Given the description of an element on the screen output the (x, y) to click on. 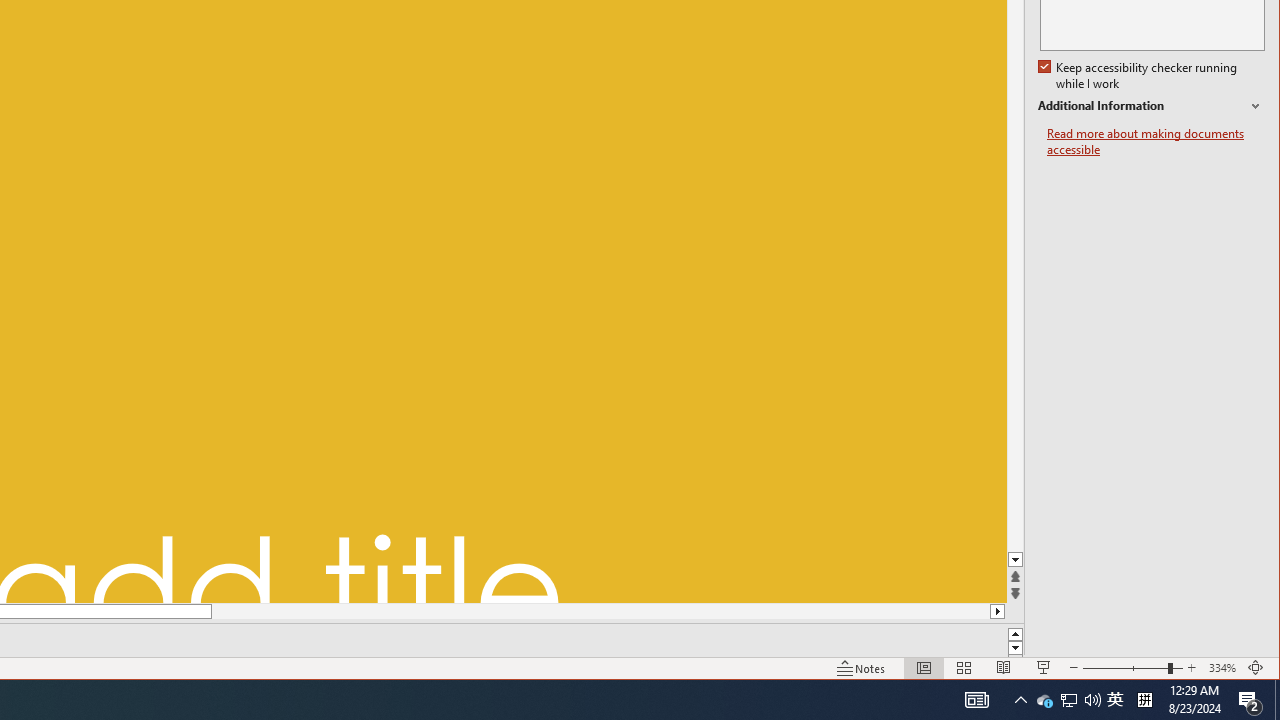
Zoom In (1191, 668)
User Promoted Notification Area (1115, 699)
Action Center, 2 new notifications (1068, 699)
Line down (1250, 699)
Reading View (1015, 560)
Keep accessibility checker running while I work (1004, 668)
Zoom Out (1139, 76)
Tray Input Indicator - Chinese (Simplified, China) (1124, 668)
